Given the description of an element on the screen output the (x, y) to click on. 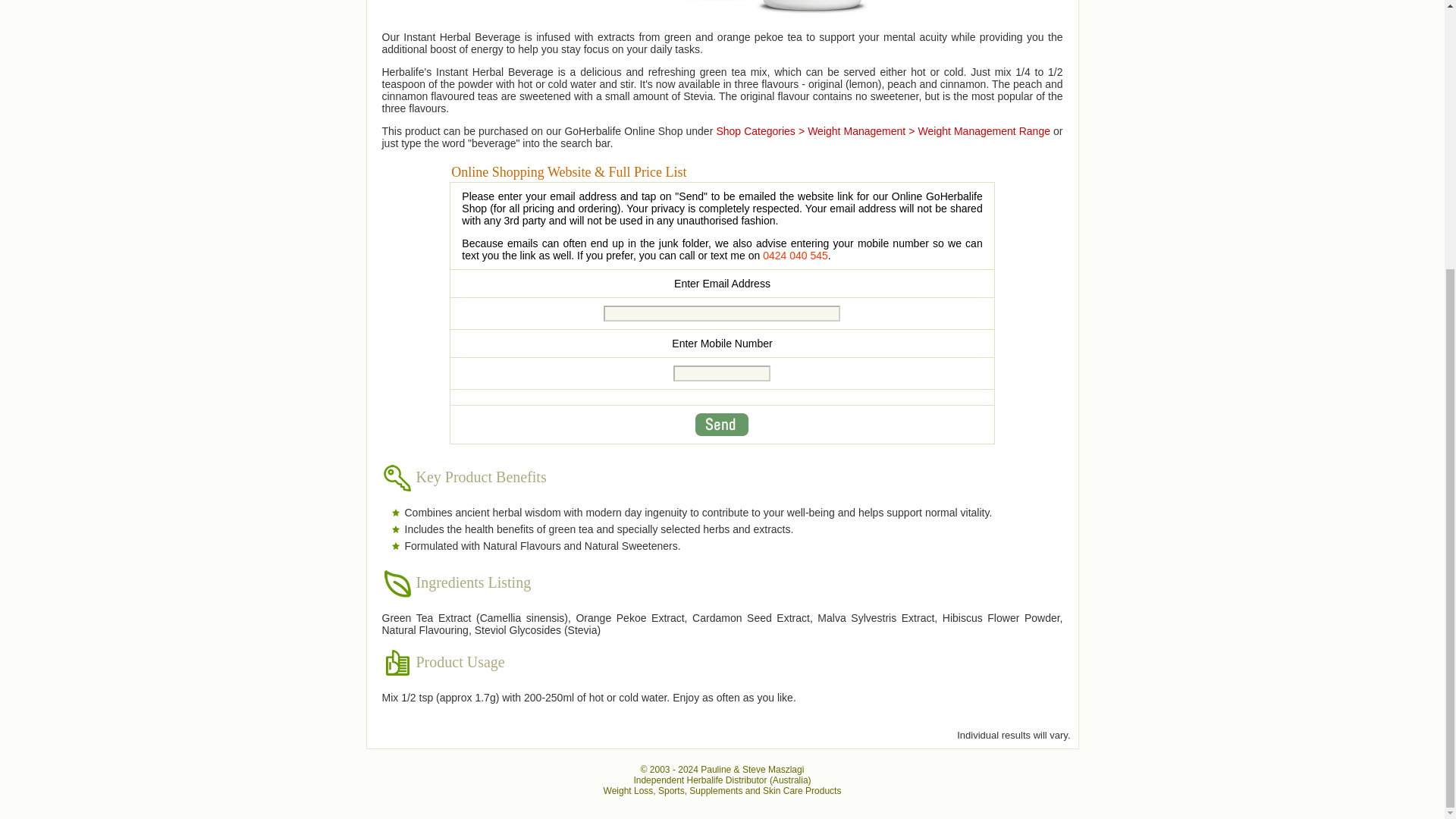
Send (721, 424)
0424 040 545 (795, 255)
